Given the description of an element on the screen output the (x, y) to click on. 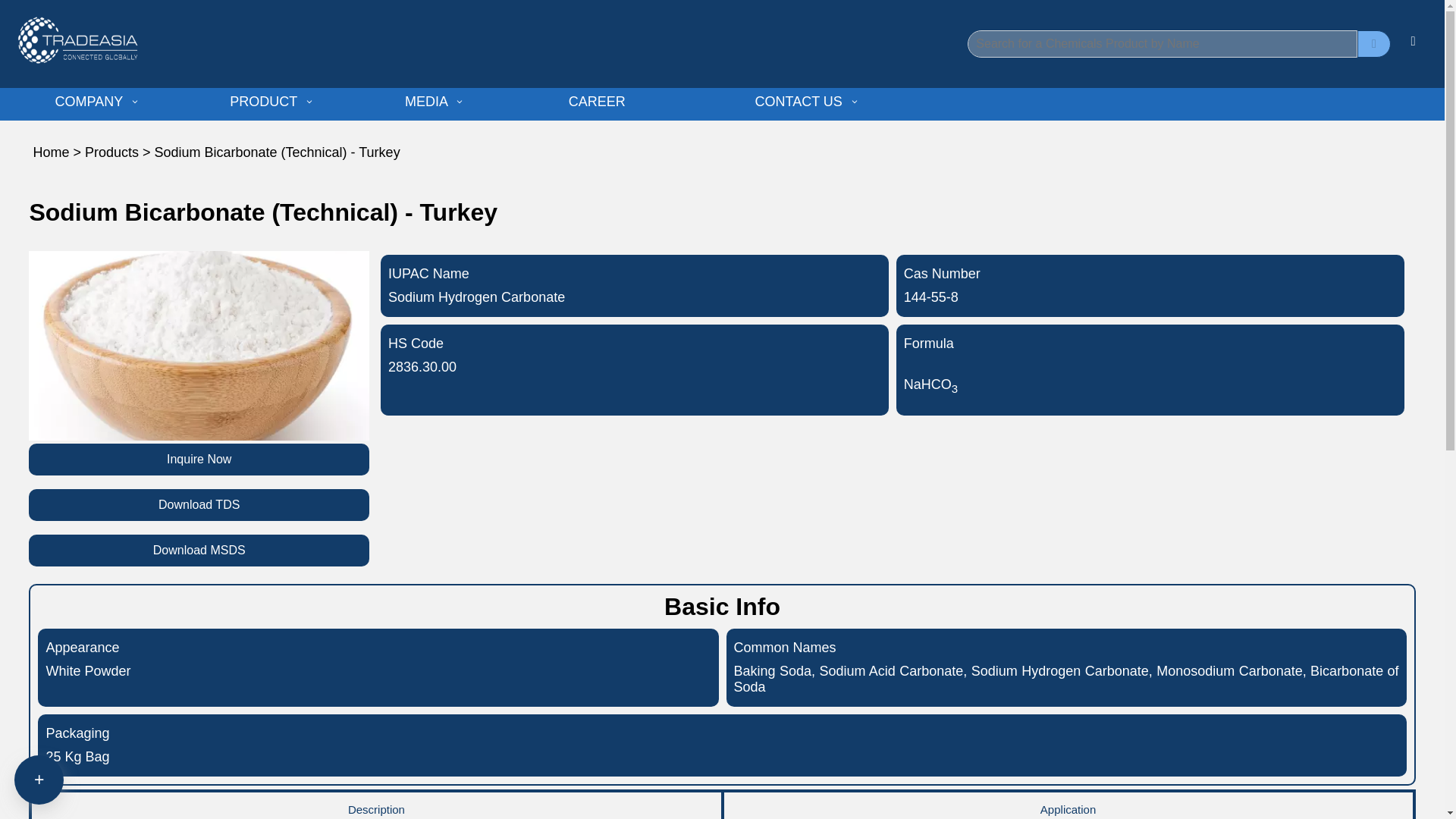
MEDIA (436, 101)
CAREER (656, 101)
COMPANY (98, 101)
CONTACT US (807, 101)
PRODUCT (273, 101)
